Given the description of an element on the screen output the (x, y) to click on. 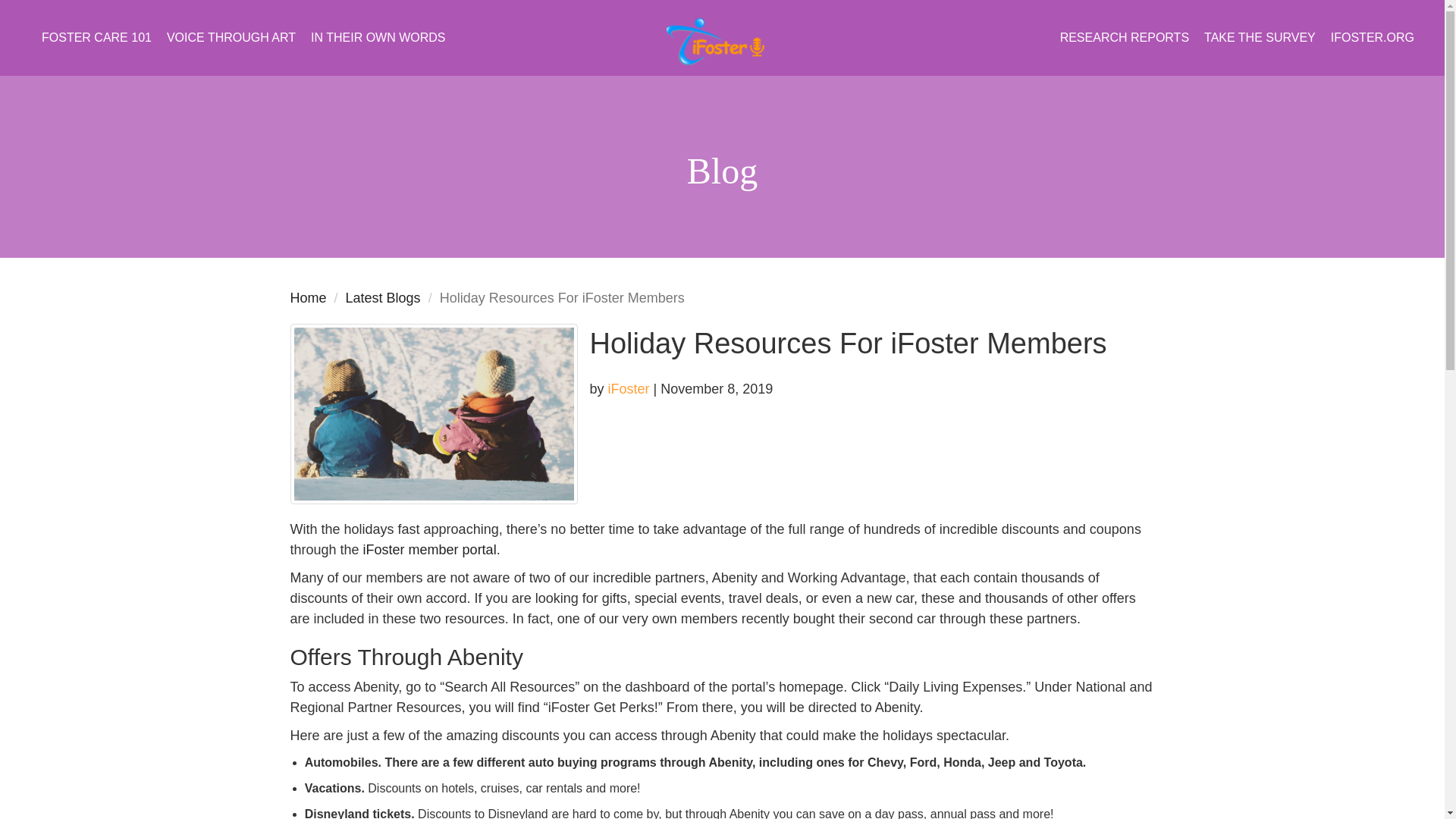
iFoster member portal (429, 549)
Home (307, 297)
IN THEIR OWN WORDS (377, 38)
TAKE THE SURVEY (1259, 38)
Latest Blogs (383, 297)
VOICE THROUGH ART (230, 38)
RESEARCH REPORTS (1124, 38)
FOSTER CARE 101 (95, 38)
IFOSTER.ORG (1372, 38)
